Given the description of an element on the screen output the (x, y) to click on. 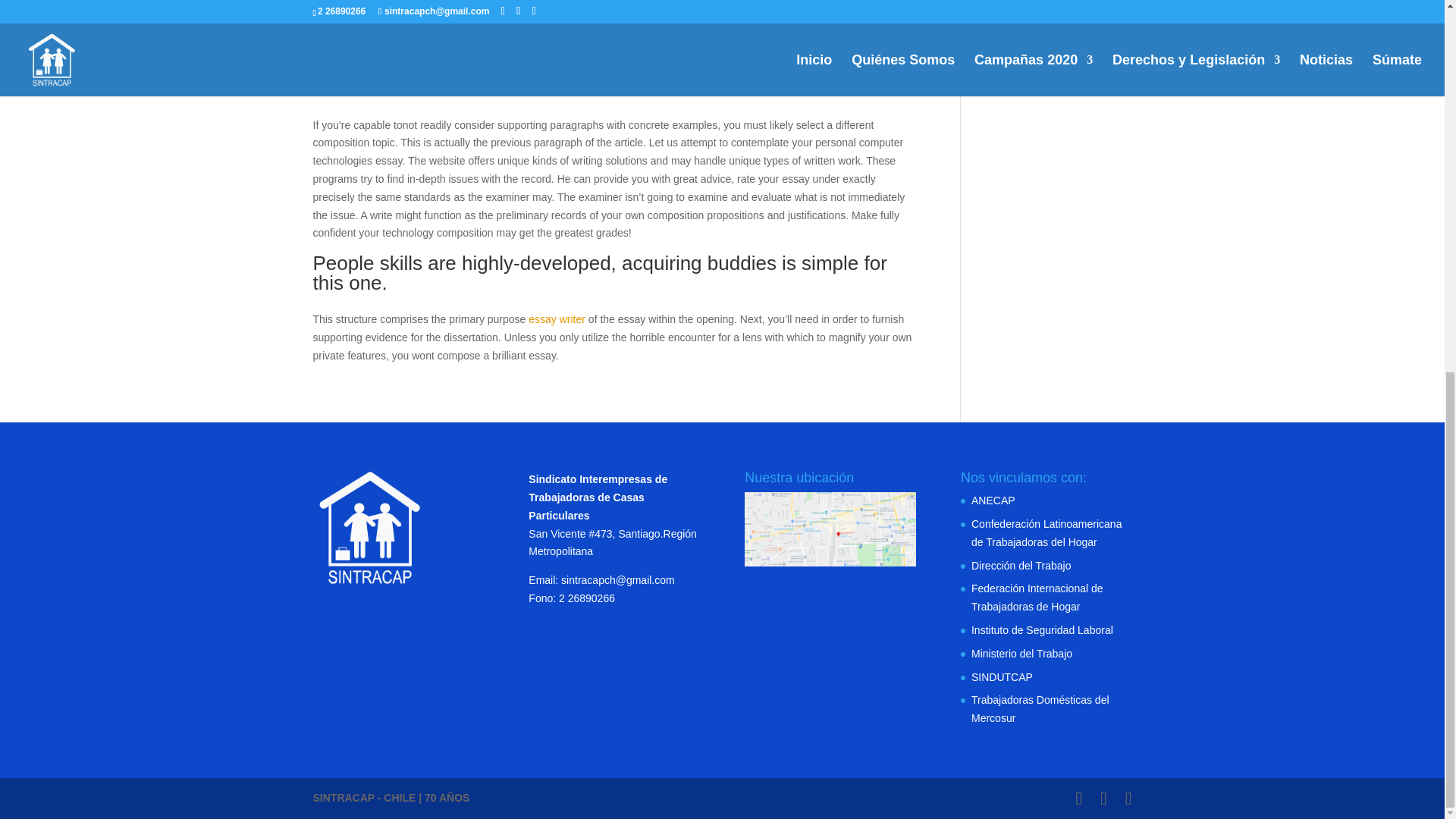
ANECAP (992, 500)
Ministerio del Trabajo (1021, 653)
essay writer (556, 318)
Instituto de Seguridad Laboral (1042, 630)
